Given the description of an element on the screen output the (x, y) to click on. 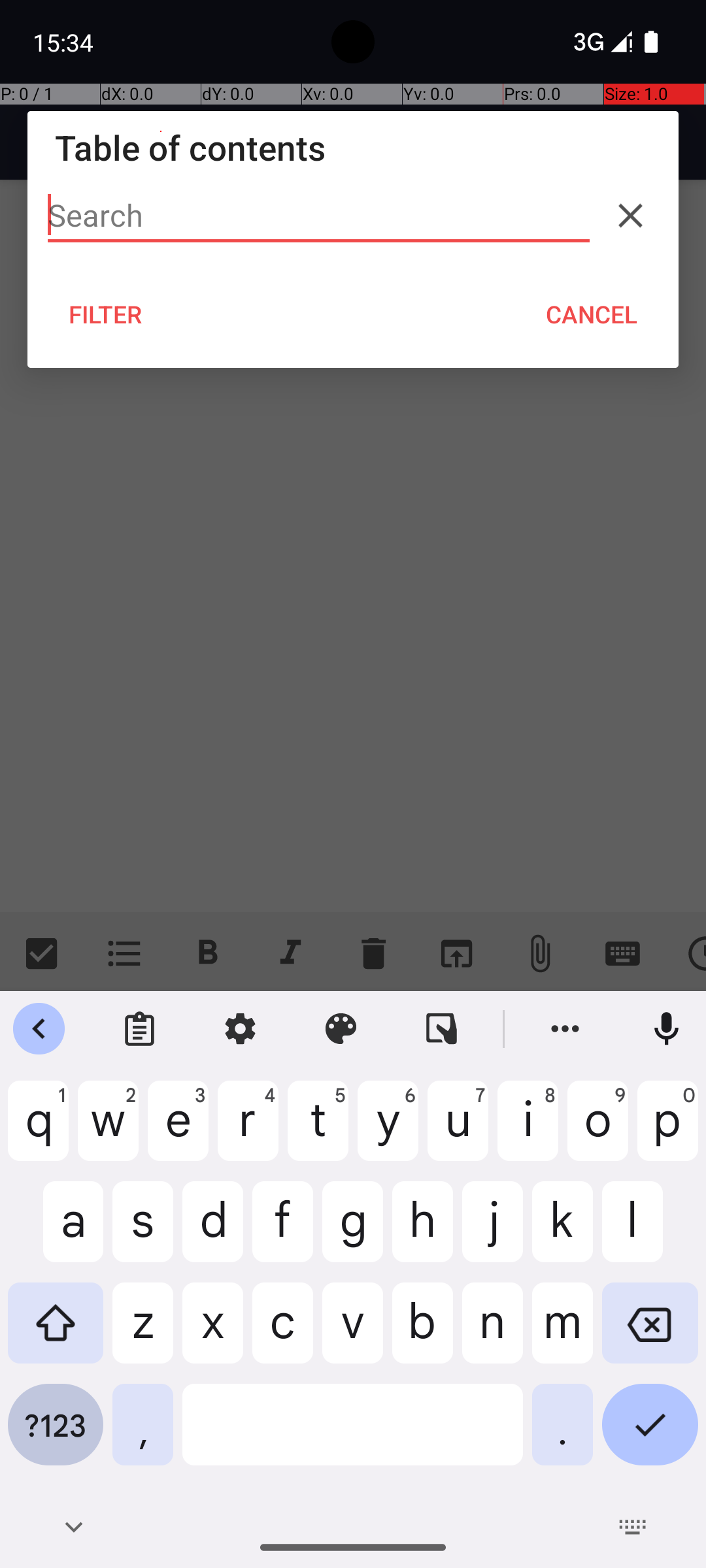
Table of contents Element type: android.widget.TextView (352, 147)
FILTER Element type: android.widget.Button (105, 313)
